Given the description of an element on the screen output the (x, y) to click on. 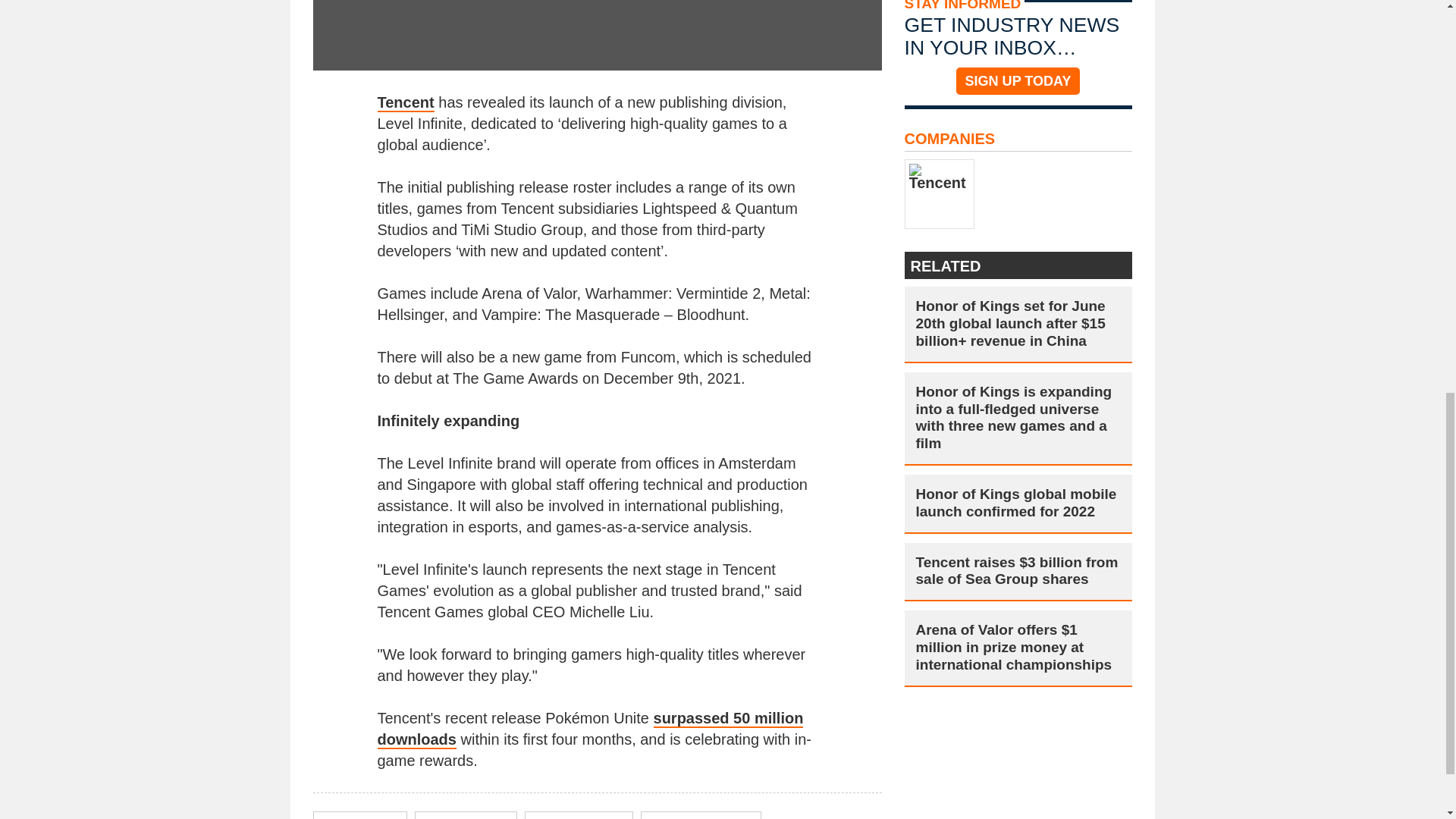
surpassed 50 million downloads (590, 729)
Honor of Kings global mobile launch confirmed for 2022 (1017, 503)
Tencent (405, 103)
